Given the description of an element on the screen output the (x, y) to click on. 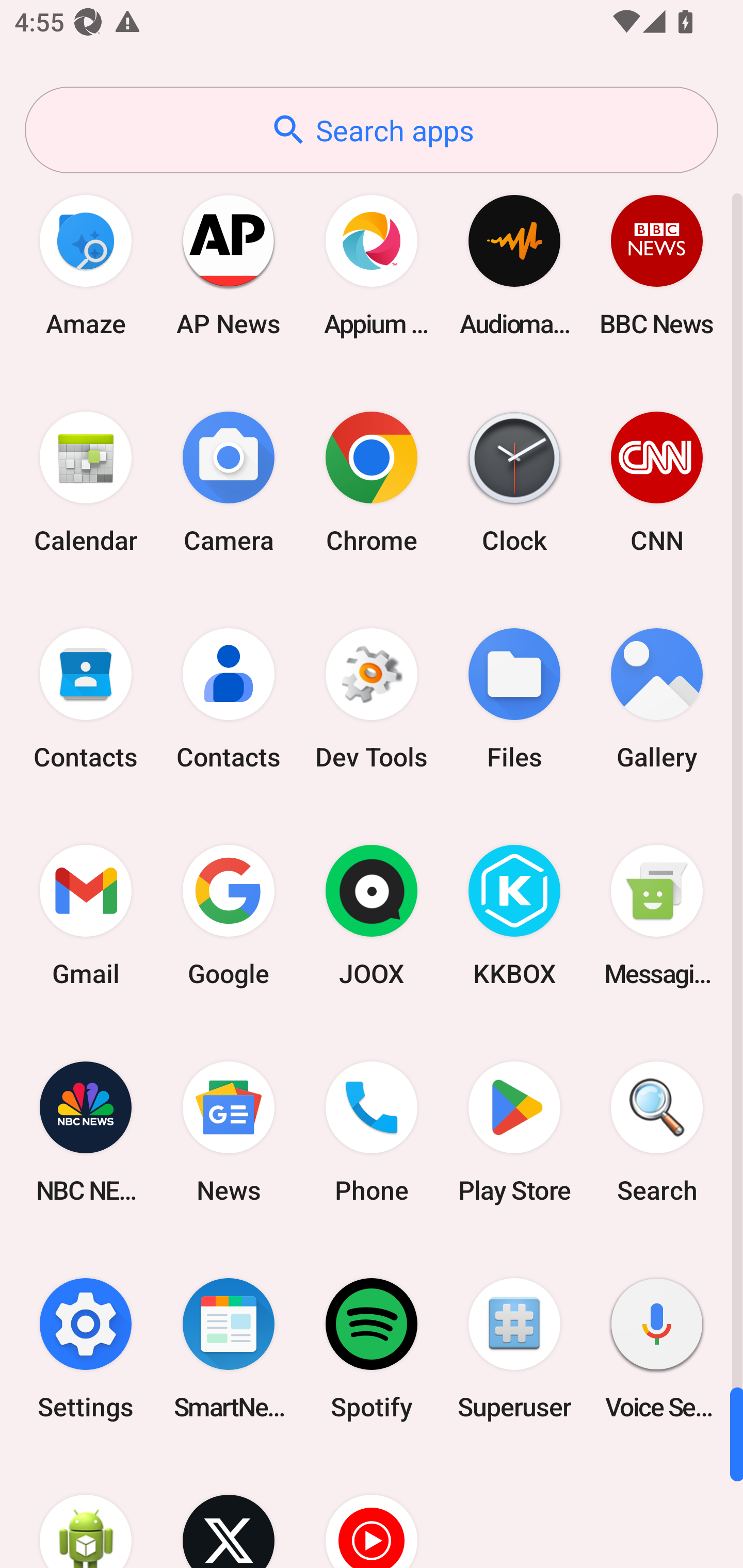
  Search apps (371, 130)
Amaze (85, 264)
AP News (228, 264)
Appium Settings (371, 264)
Audio­mack (514, 264)
BBC News (656, 264)
Calendar (85, 482)
Camera (228, 482)
Chrome (371, 482)
Clock (514, 482)
CNN (656, 482)
Contacts (85, 699)
Contacts (228, 699)
Dev Tools (371, 699)
Files (514, 699)
Gallery (656, 699)
Gmail (85, 915)
Google (228, 915)
JOOX (371, 915)
KKBOX (514, 915)
Messaging (656, 915)
NBC NEWS (85, 1131)
News (228, 1131)
Phone (371, 1131)
Play Store (514, 1131)
Search (656, 1131)
Settings (85, 1348)
SmartNews (228, 1348)
Spotify (371, 1348)
Superuser (514, 1348)
Voice Search (656, 1348)
WebView Browser Tester (85, 1512)
X (228, 1512)
YT Music (371, 1512)
